Given the description of an element on the screen output the (x, y) to click on. 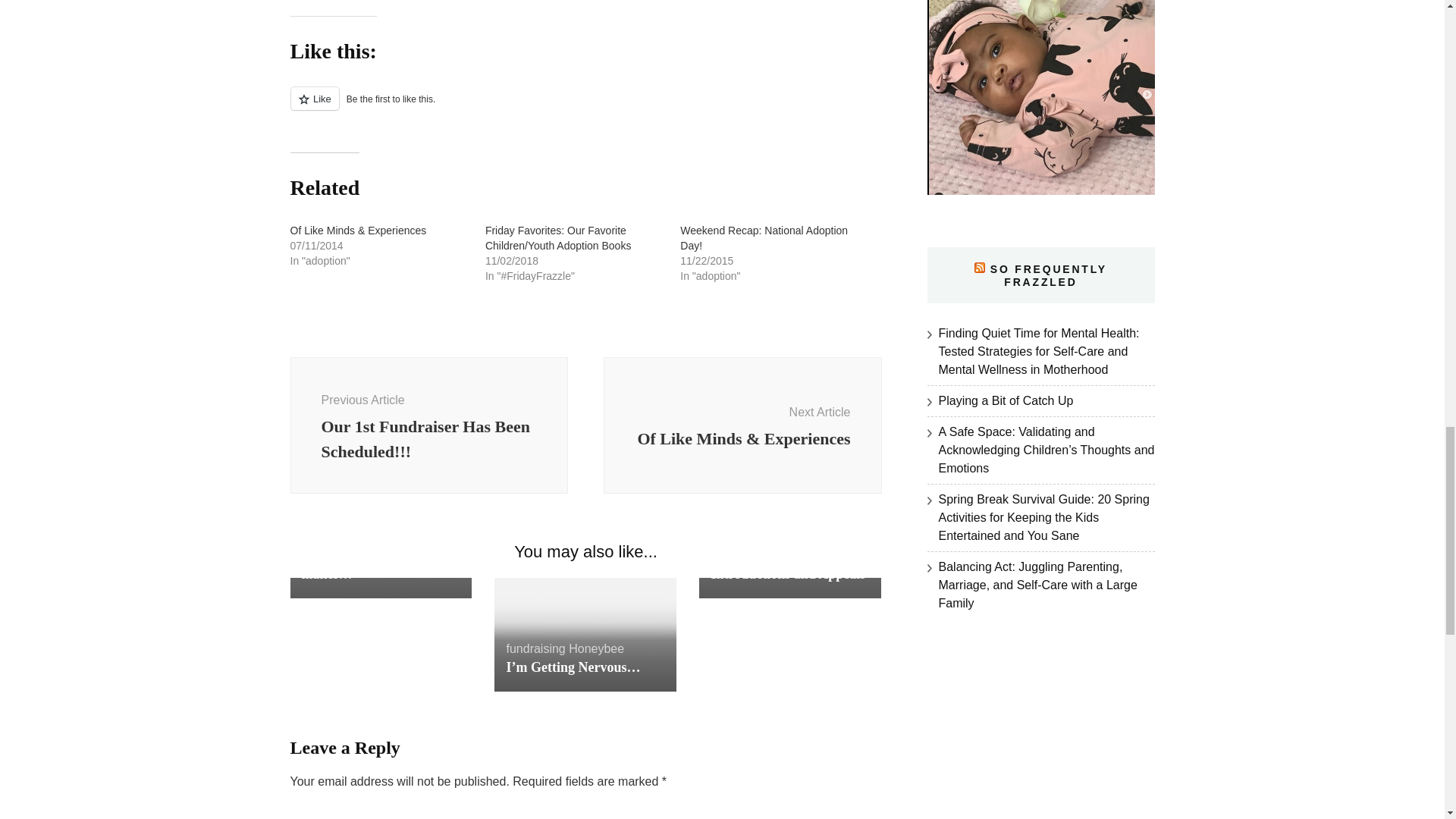
Like or Reblog (584, 106)
Weekend Recap:  National Adoption Day! (763, 237)
